Given the description of an element on the screen output the (x, y) to click on. 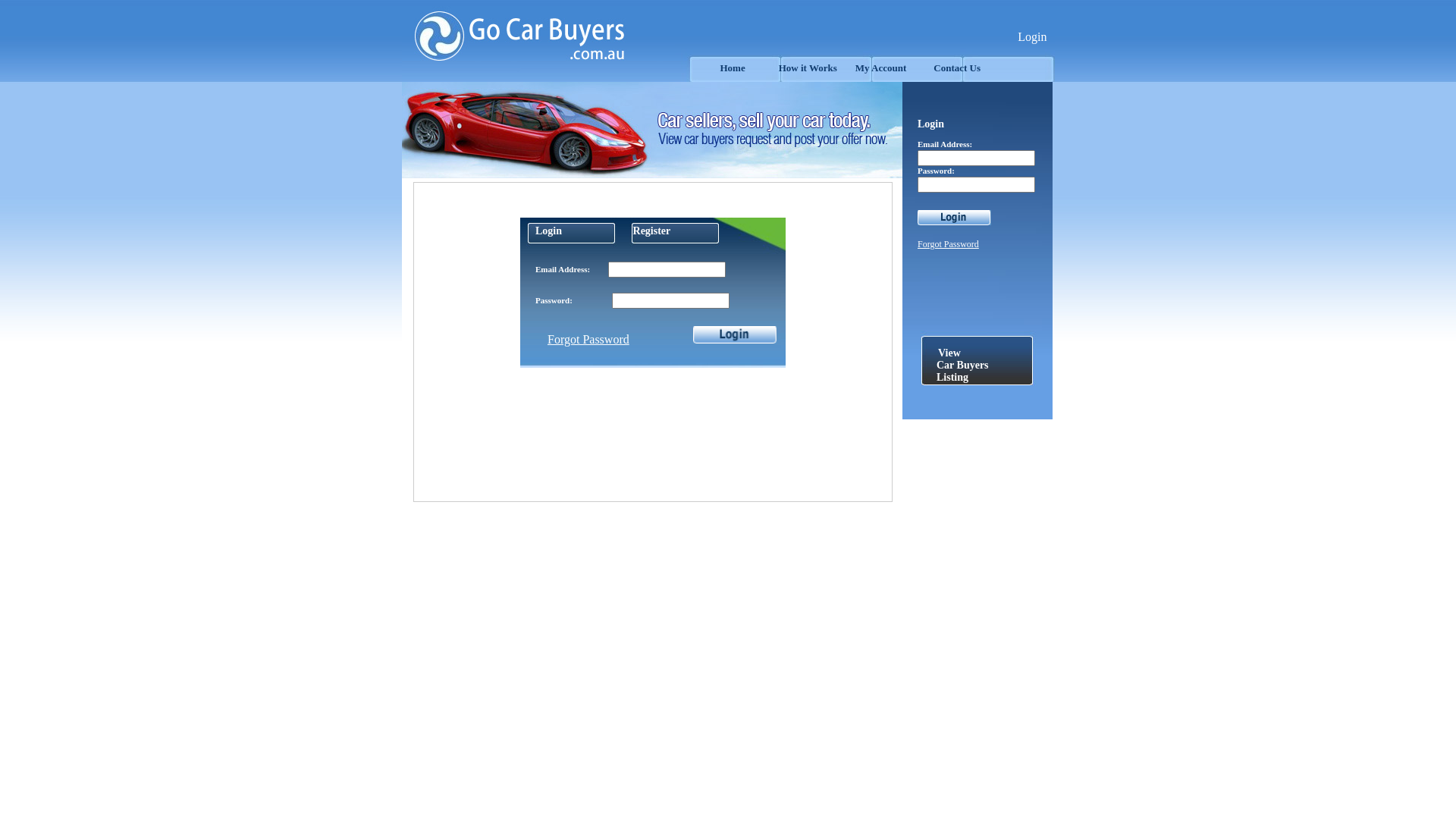
Home Element type: text (732, 67)
How it Works Element type: text (807, 67)
Forgot Password Element type: text (588, 338)
Login Element type: text (1031, 36)
Forgot Password Element type: text (948, 243)
Register Element type: text (652, 230)
My Account Element type: text (880, 67)
Contact Us Element type: text (956, 67)
View
Car Buyers
Listing Element type: text (962, 364)
